Given the description of an element on the screen output the (x, y) to click on. 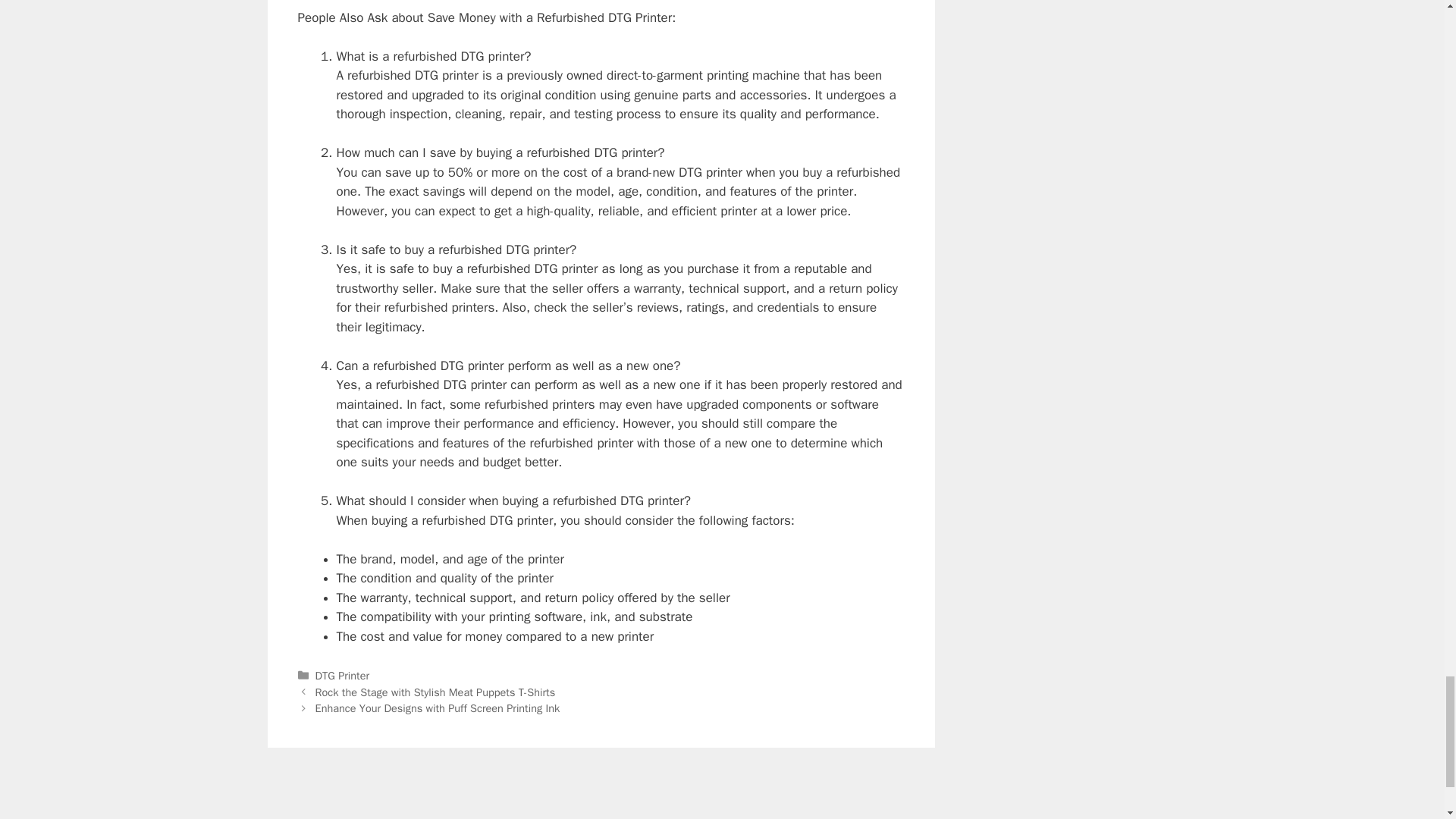
Enhance Your Designs with Puff Screen Printing Ink (437, 707)
Rock the Stage with Stylish Meat Puppets T-Shirts (435, 692)
DTG Printer (342, 675)
